Given the description of an element on the screen output the (x, y) to click on. 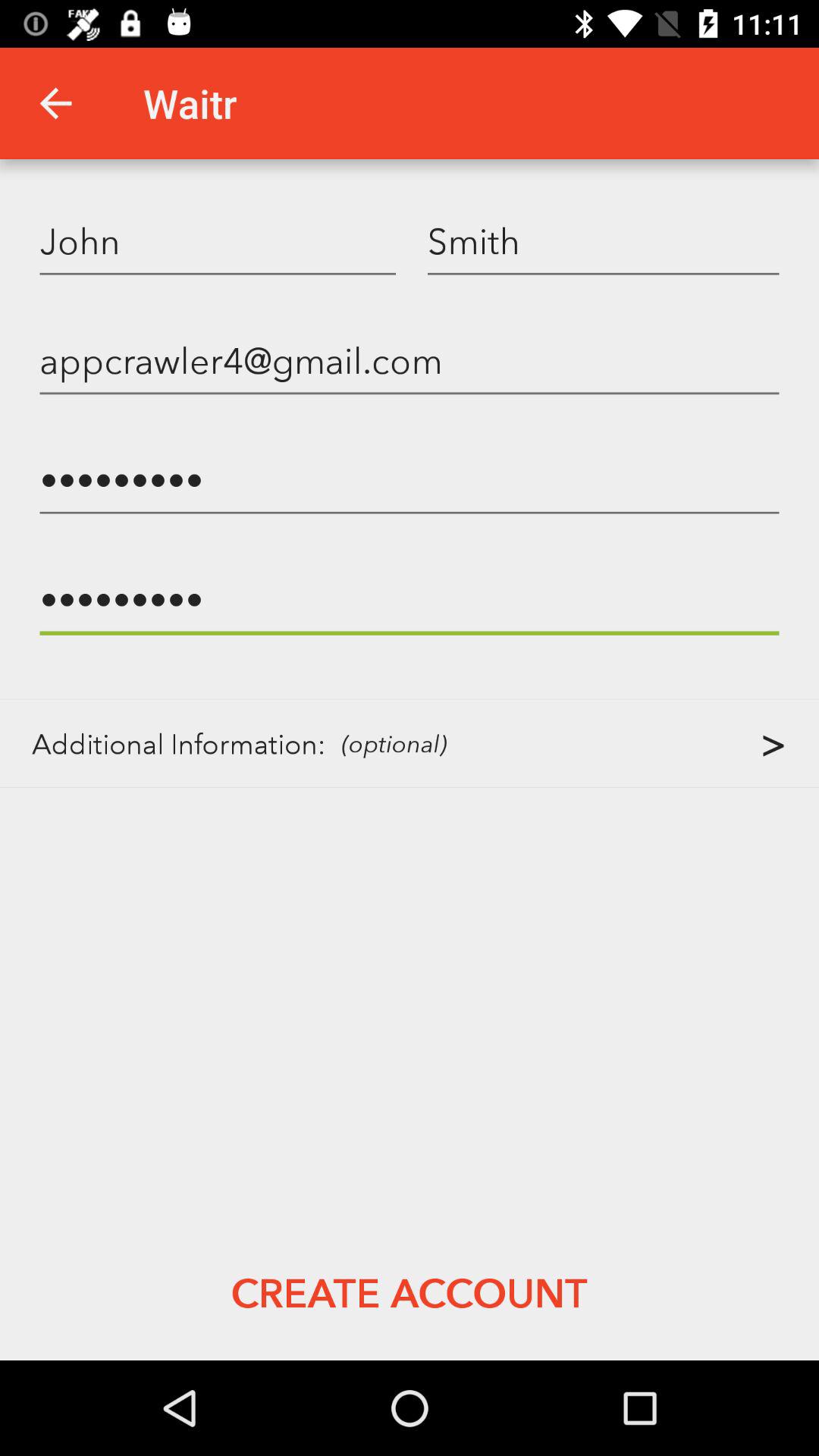
turn on appcrawler4@gmail.com (409, 360)
